Given the description of an element on the screen output the (x, y) to click on. 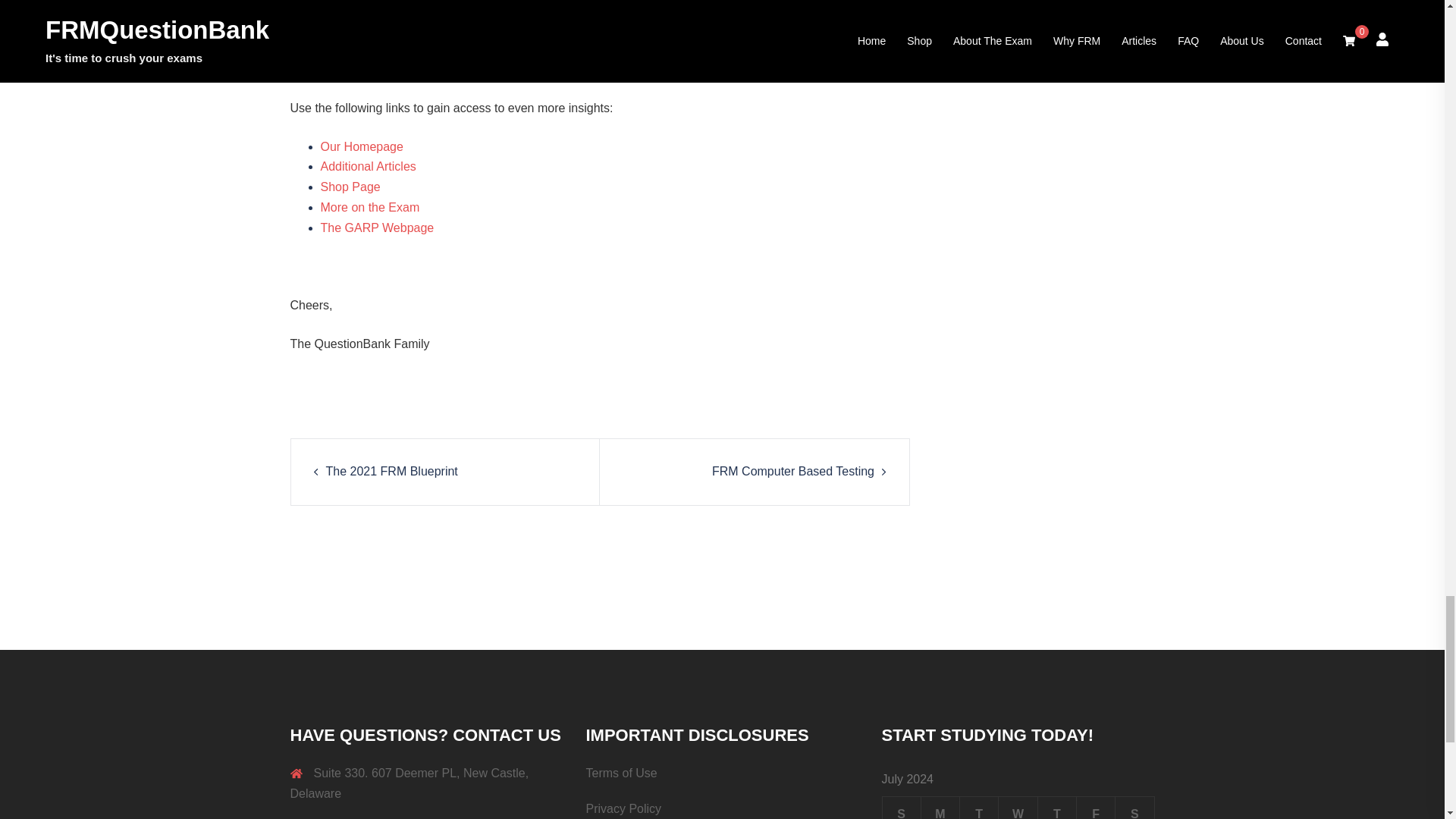
Tuesday (978, 807)
The GARP Webpage (376, 227)
The 2021 FRM Blueprint (392, 471)
Additional Articles (367, 165)
Our Homepage (361, 146)
Sunday (901, 807)
Friday (1095, 807)
Thursday (1055, 807)
FRM Computer Based Testing (793, 471)
More on the Exam (369, 206)
Shop Page (350, 186)
Monday (939, 807)
Wednesday (1017, 807)
Saturday (1134, 807)
